Given the description of an element on the screen output the (x, y) to click on. 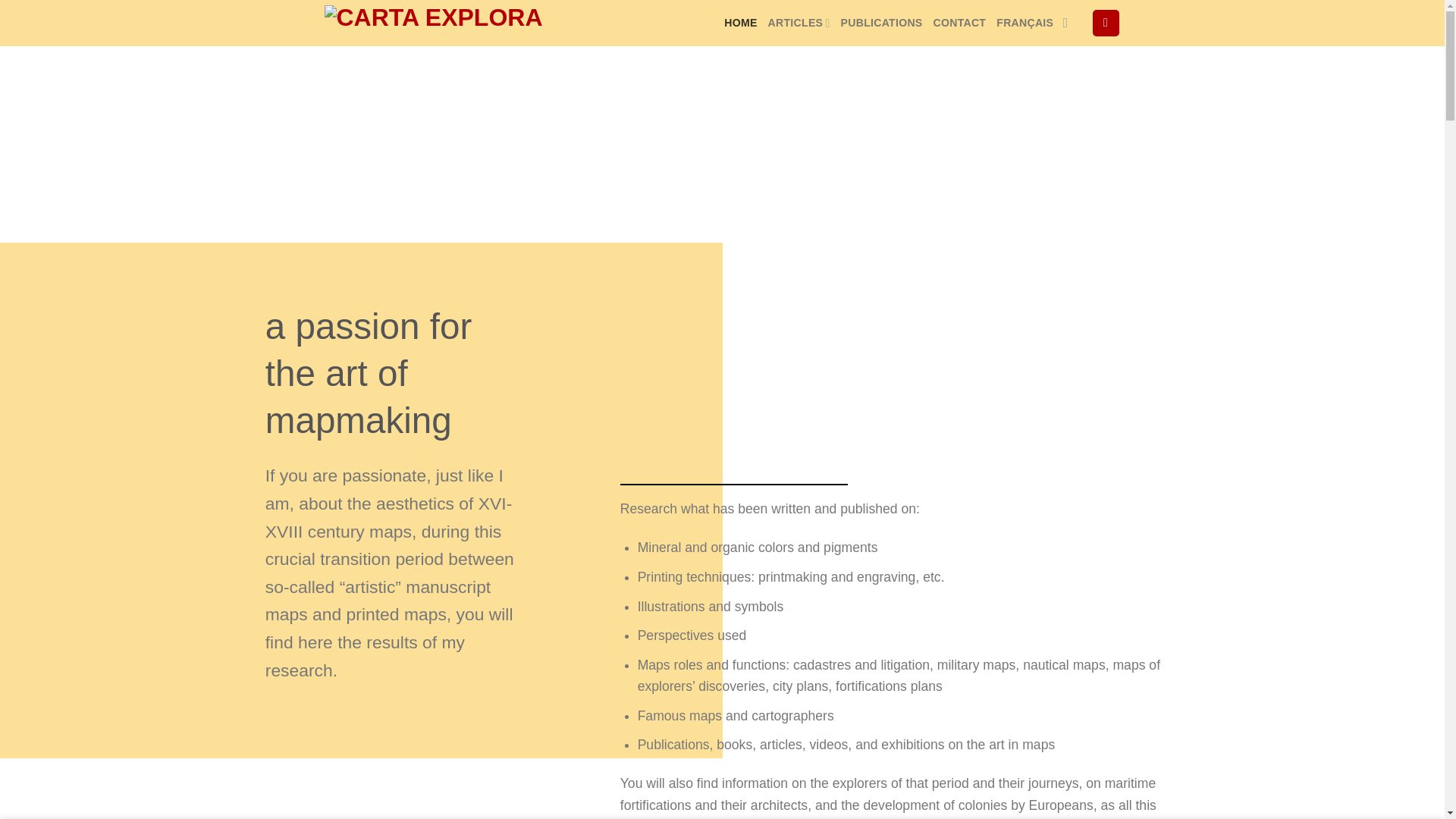
HOME (740, 22)
ARTICLES (798, 22)
PUBLICATIONS (882, 22)
Carta Explora - The art of mapmaking (436, 22)
Follow on Instagram (1069, 22)
CONTACT (959, 22)
